Given the description of an element on the screen output the (x, y) to click on. 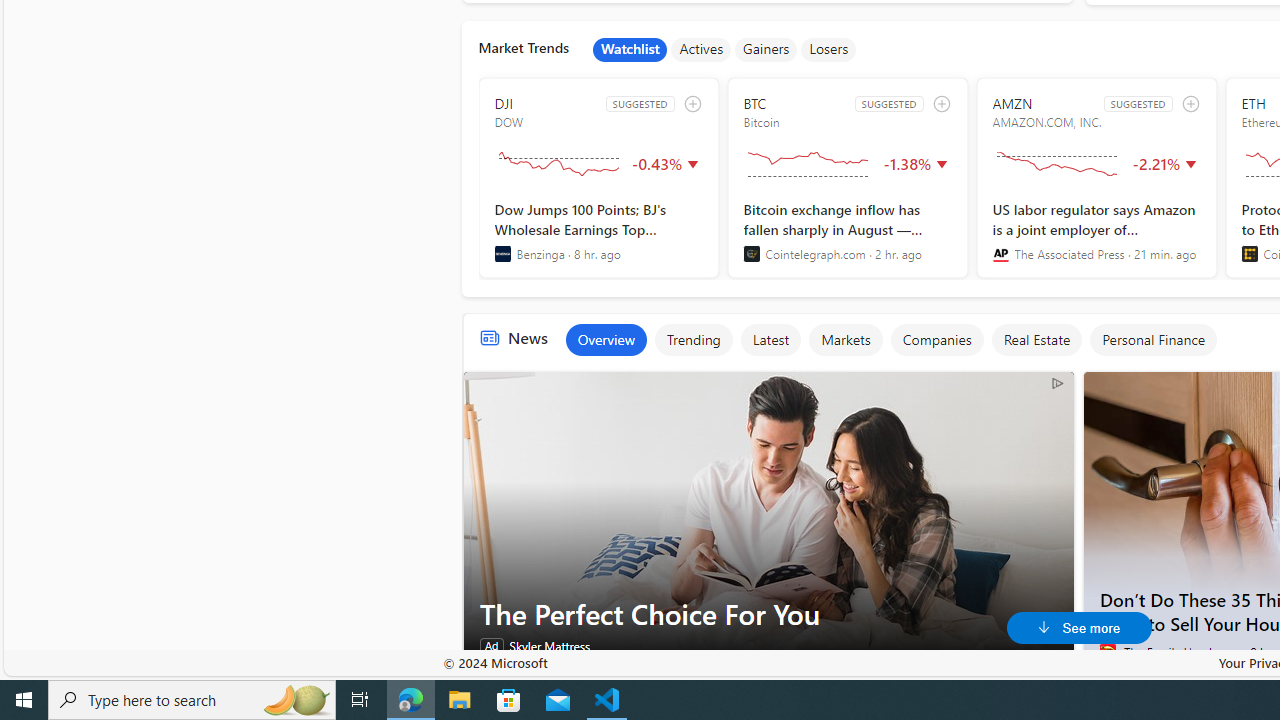
Latest (770, 339)
The Perfect Choice For You (768, 614)
Cointelegraph.com (751, 254)
Dow Jumps 100 Points; BJ's Wholesale Earnings Top Estimates (598, 231)
BTC SUGGESTED Bitcoin (847, 178)
add to watchlist (1189, 103)
Losers (829, 49)
Gainers (765, 49)
Personal Finance (1153, 339)
Overview (605, 339)
